Given the description of an element on the screen output the (x, y) to click on. 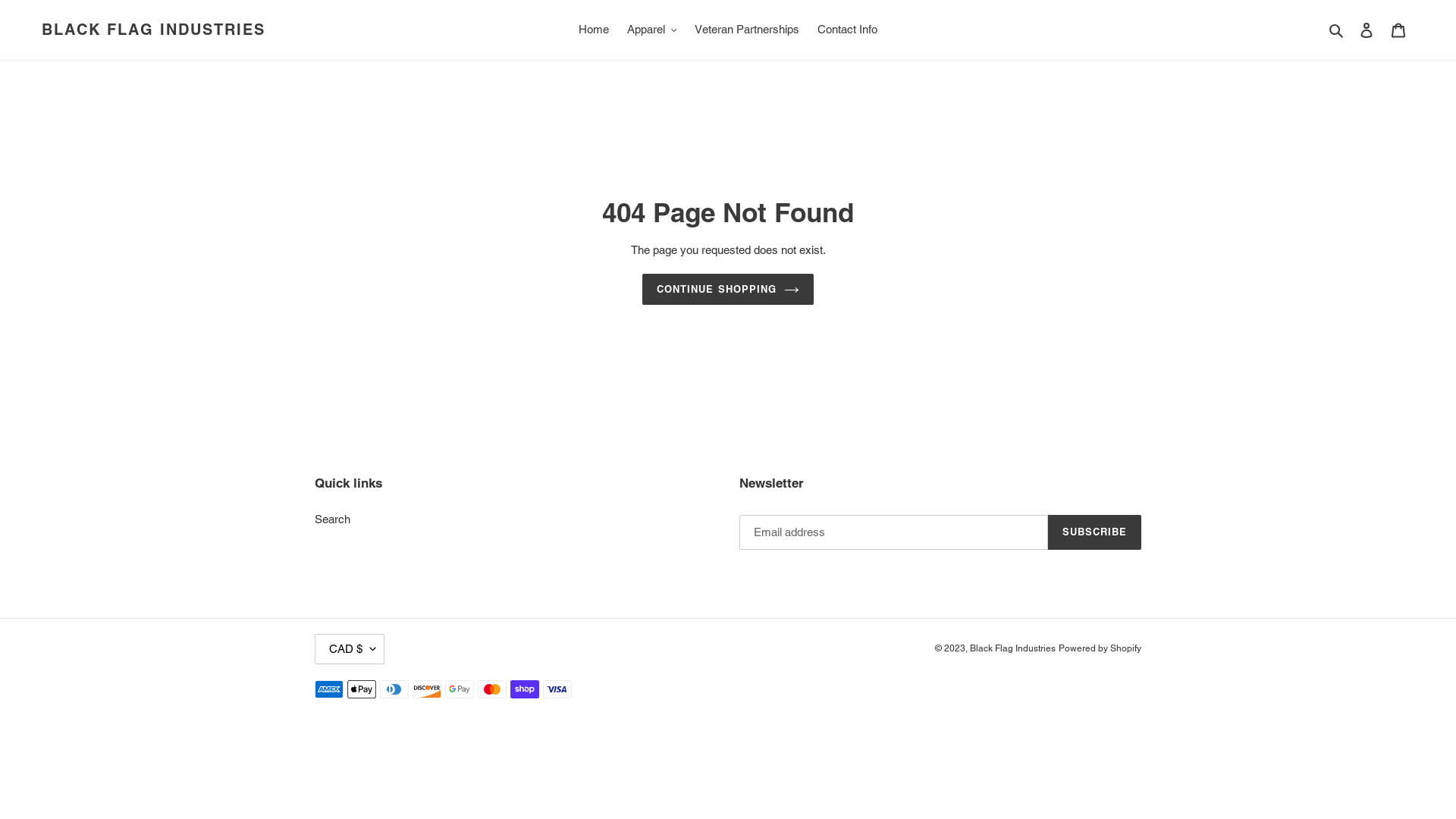
CONTINUE SHOPPING Element type: text (727, 289)
Powered by Shopify Element type: text (1099, 648)
Search Element type: text (332, 518)
BLACK FLAG INDUSTRIES Element type: text (153, 29)
Log in Element type: text (1366, 29)
Search Element type: text (1337, 29)
Black Flag Industries Element type: text (1012, 648)
Home Element type: text (593, 29)
Cart Element type: text (1398, 29)
Veteran Partnerships Element type: text (746, 29)
SUBSCRIBE Element type: text (1094, 531)
Apparel Element type: text (651, 29)
CAD $ Element type: text (349, 648)
Contact Info Element type: text (846, 29)
